Given the description of an element on the screen output the (x, y) to click on. 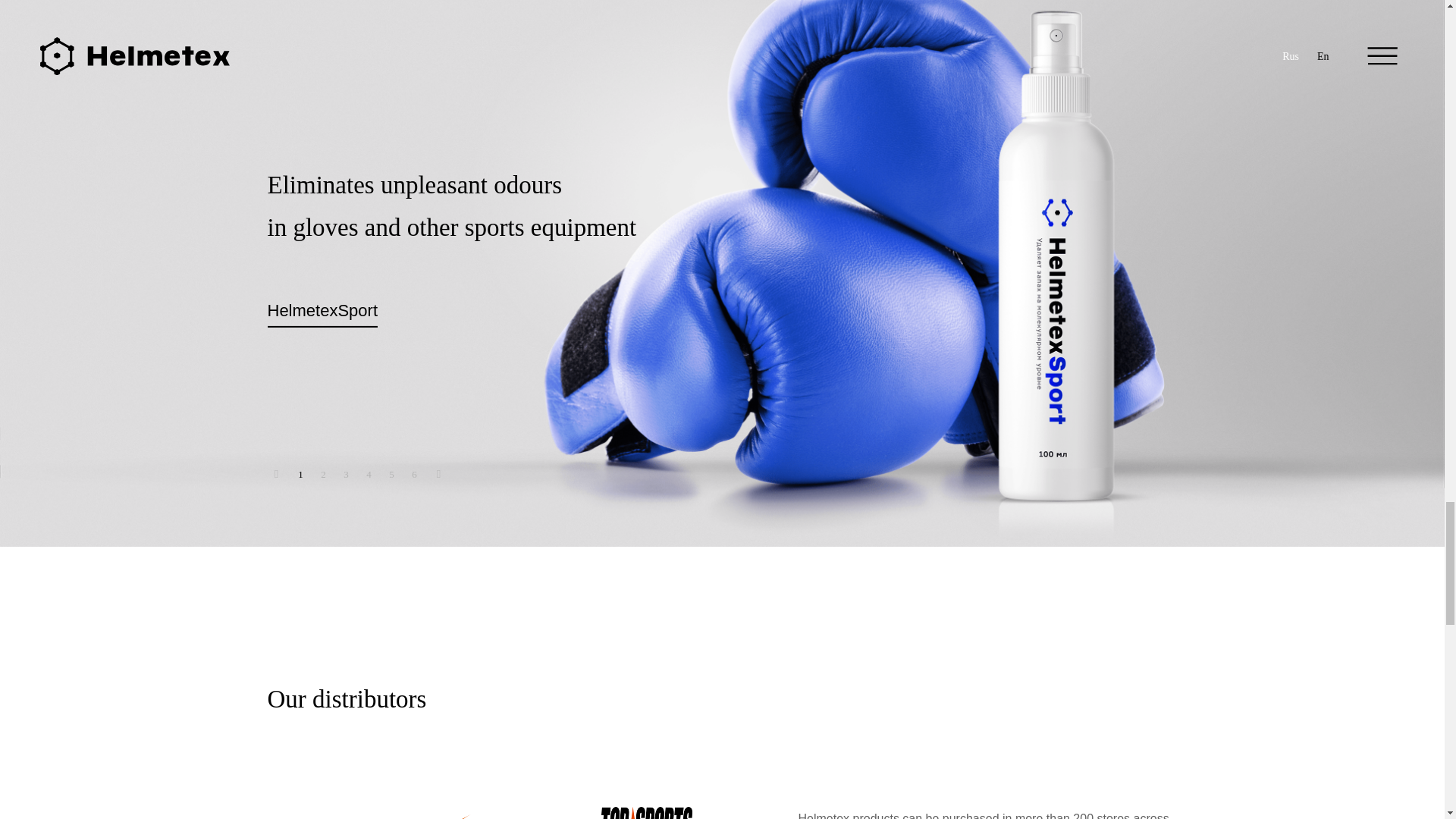
4 (368, 475)
HelmetexSport (321, 310)
3 (345, 475)
1 (299, 475)
6 (413, 475)
5 (390, 475)
2 (322, 475)
